Given the description of an element on the screen output the (x, y) to click on. 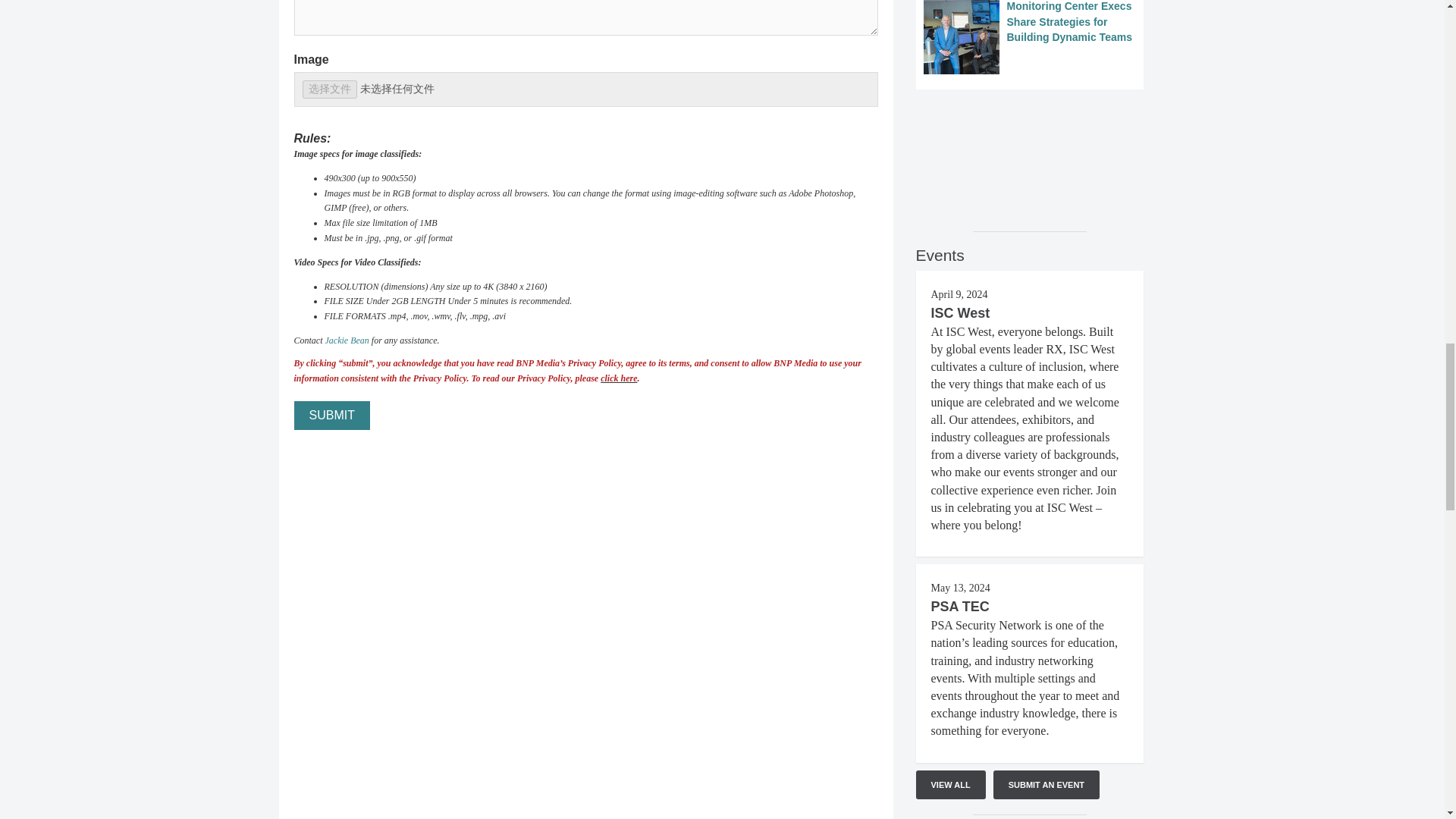
Interaction questions (1028, 153)
PSA TEC (960, 606)
Submit (331, 415)
ISC West (960, 313)
